Given the description of an element on the screen output the (x, y) to click on. 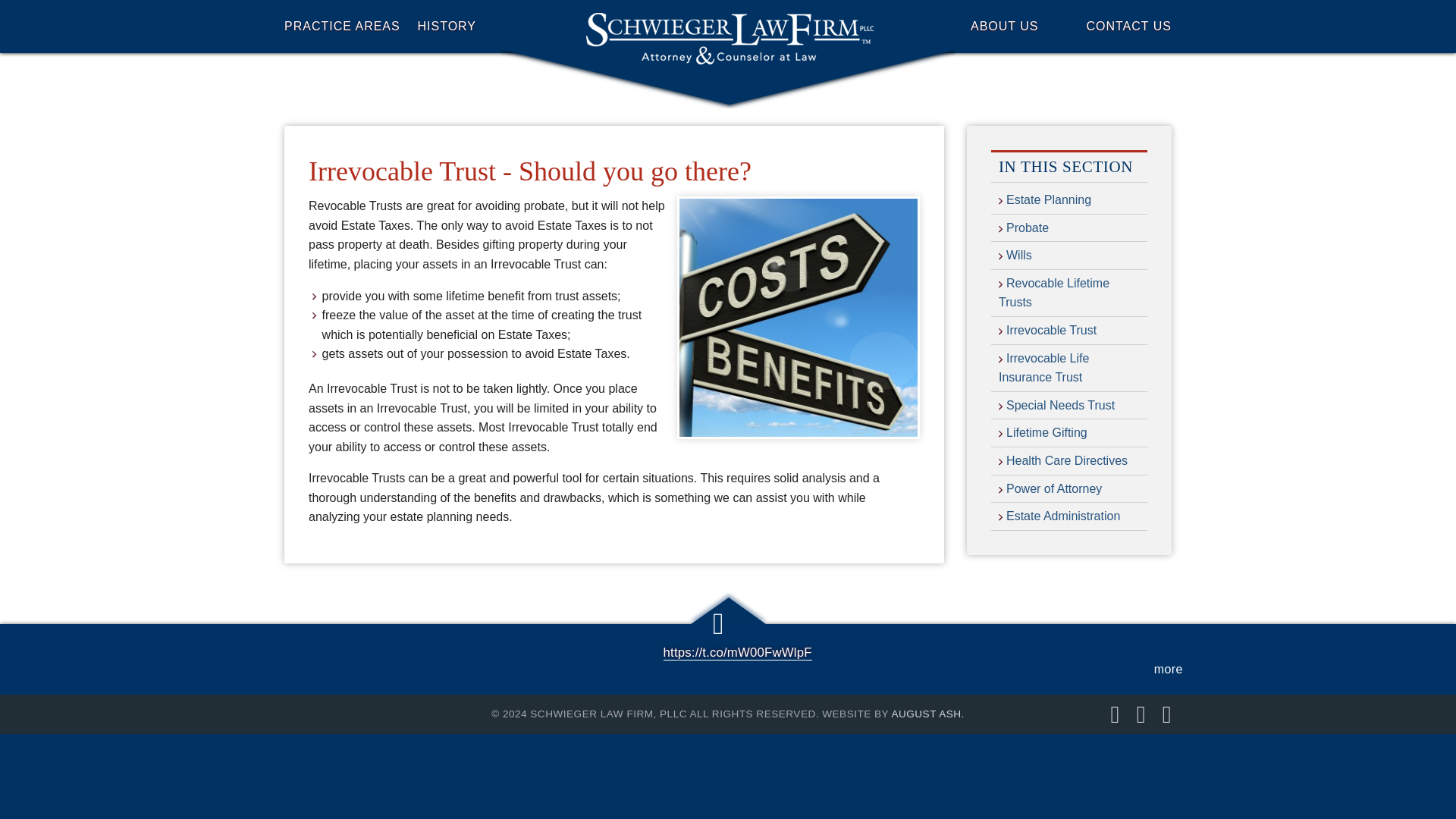
HISTORY (483, 26)
August Ash (927, 713)
ABOUT US (972, 26)
HOME (727, 26)
PRACTICE AREAS (350, 26)
